Given the description of an element on the screen output the (x, y) to click on. 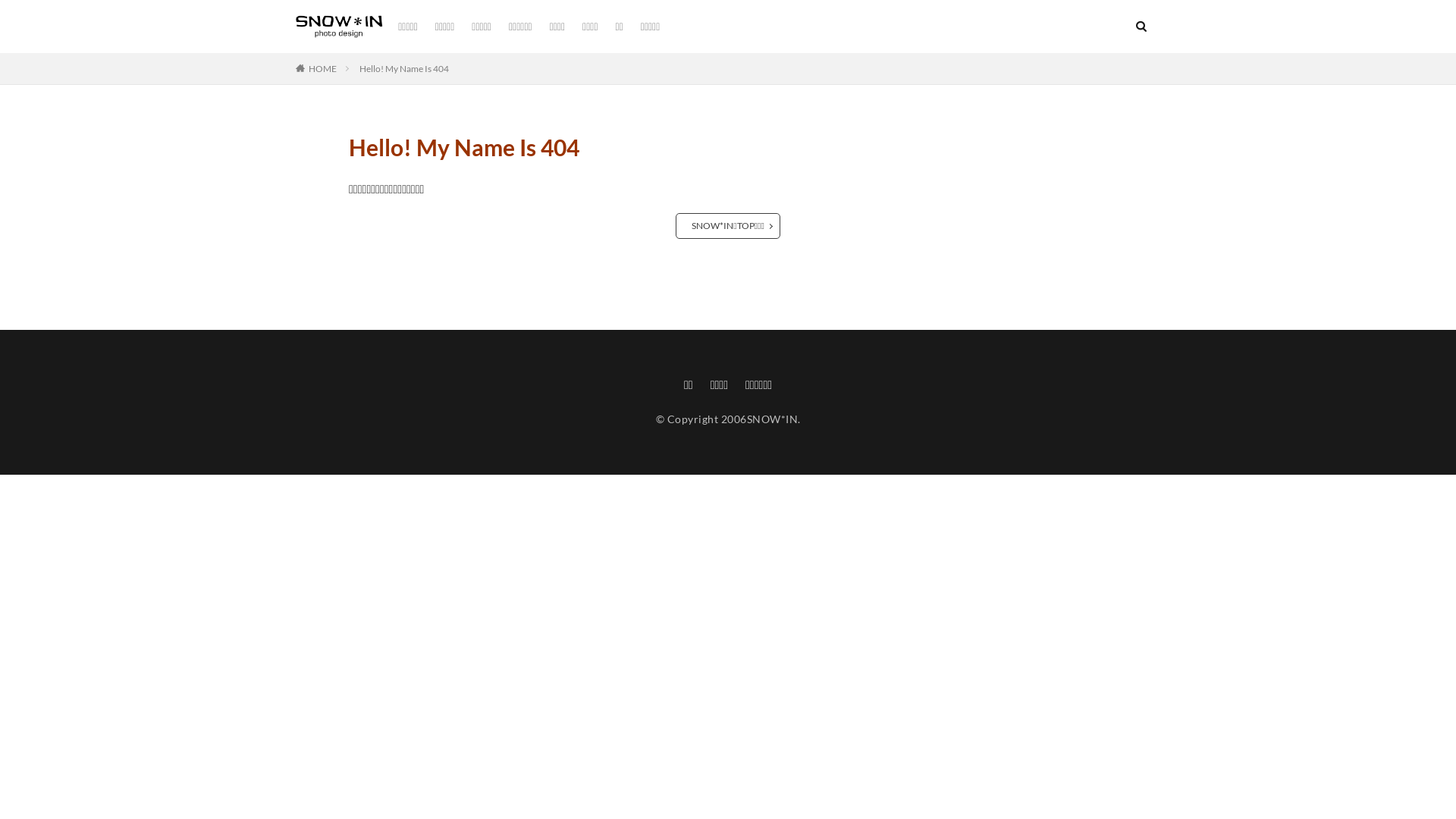
HOME Element type: text (322, 68)
